Given the description of an element on the screen output the (x, y) to click on. 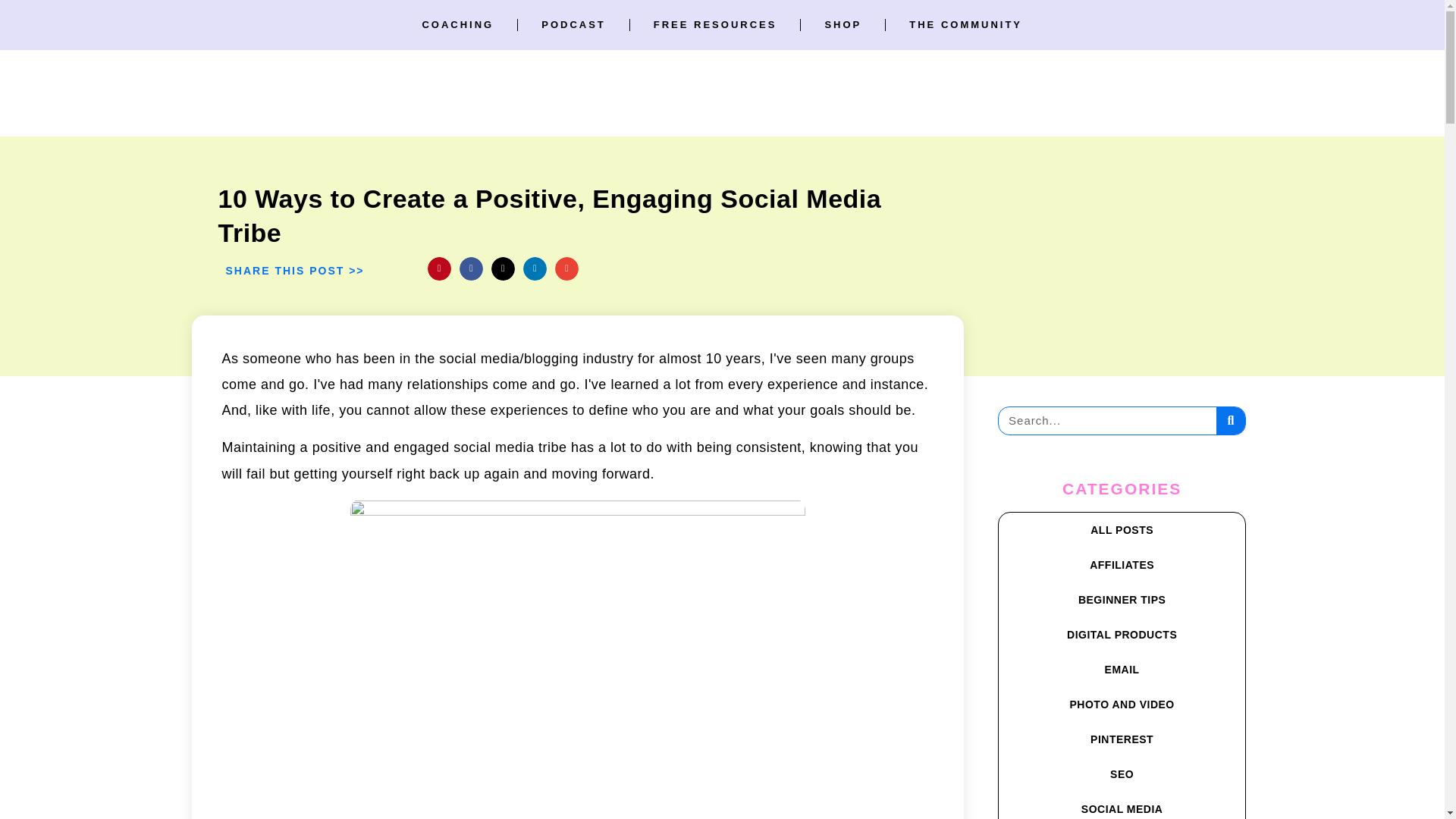
COACHING (457, 24)
BEGINNER TIPS (1121, 599)
PHOTO AND VIDEO (1121, 704)
EMAIL (1121, 669)
FREE RESOURCES (715, 24)
PINTEREST (1121, 738)
THE COMMUNITY (964, 24)
ALL POSTS (1121, 529)
SEO (1121, 773)
AFFILIATES (1121, 564)
